Given the description of an element on the screen output the (x, y) to click on. 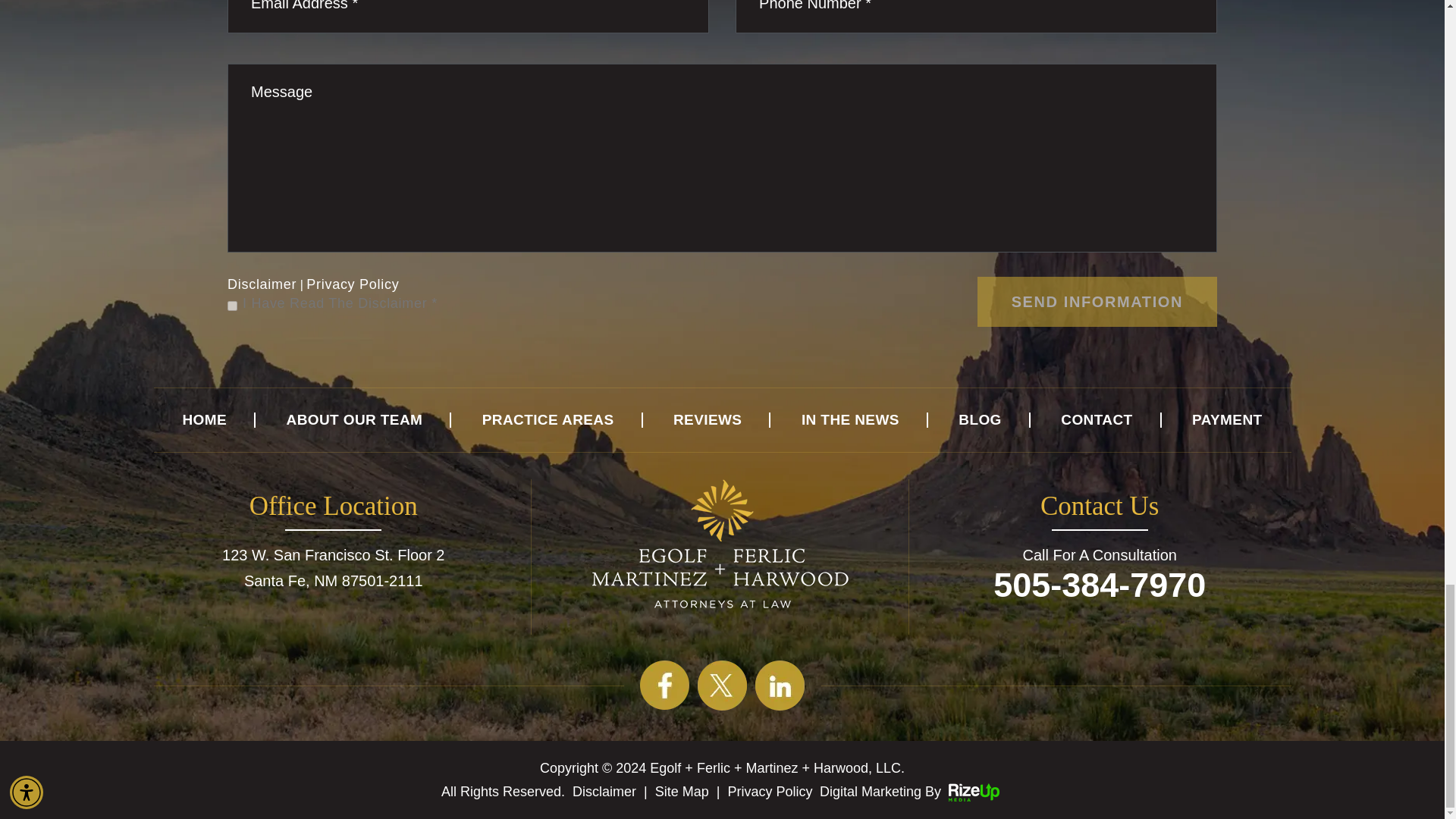
Send Information (1096, 301)
